Given the description of an element on the screen output the (x, y) to click on. 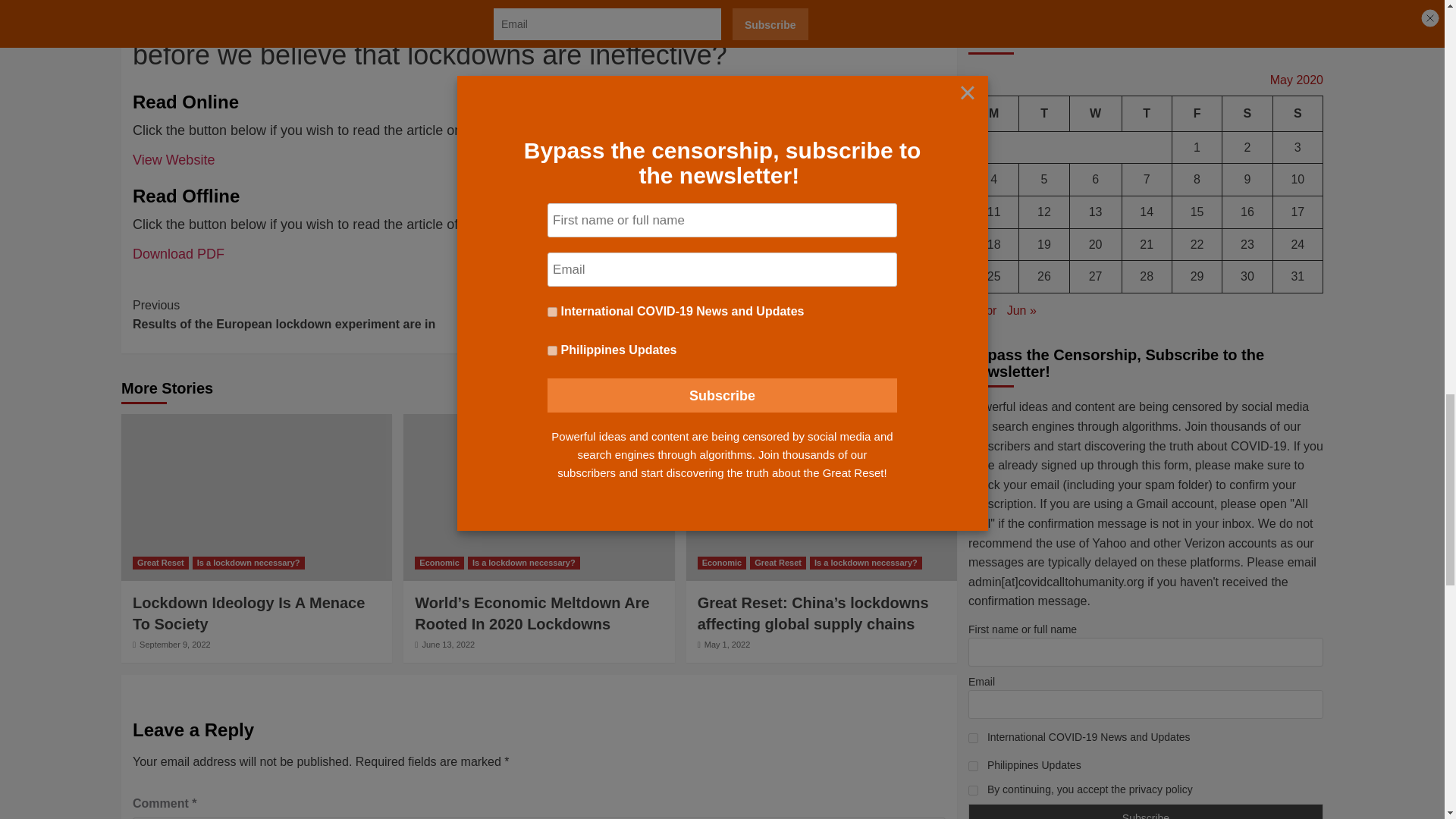
Lockdown Ideology Is A Menace To Society (255, 497)
